Given the description of an element on the screen output the (x, y) to click on. 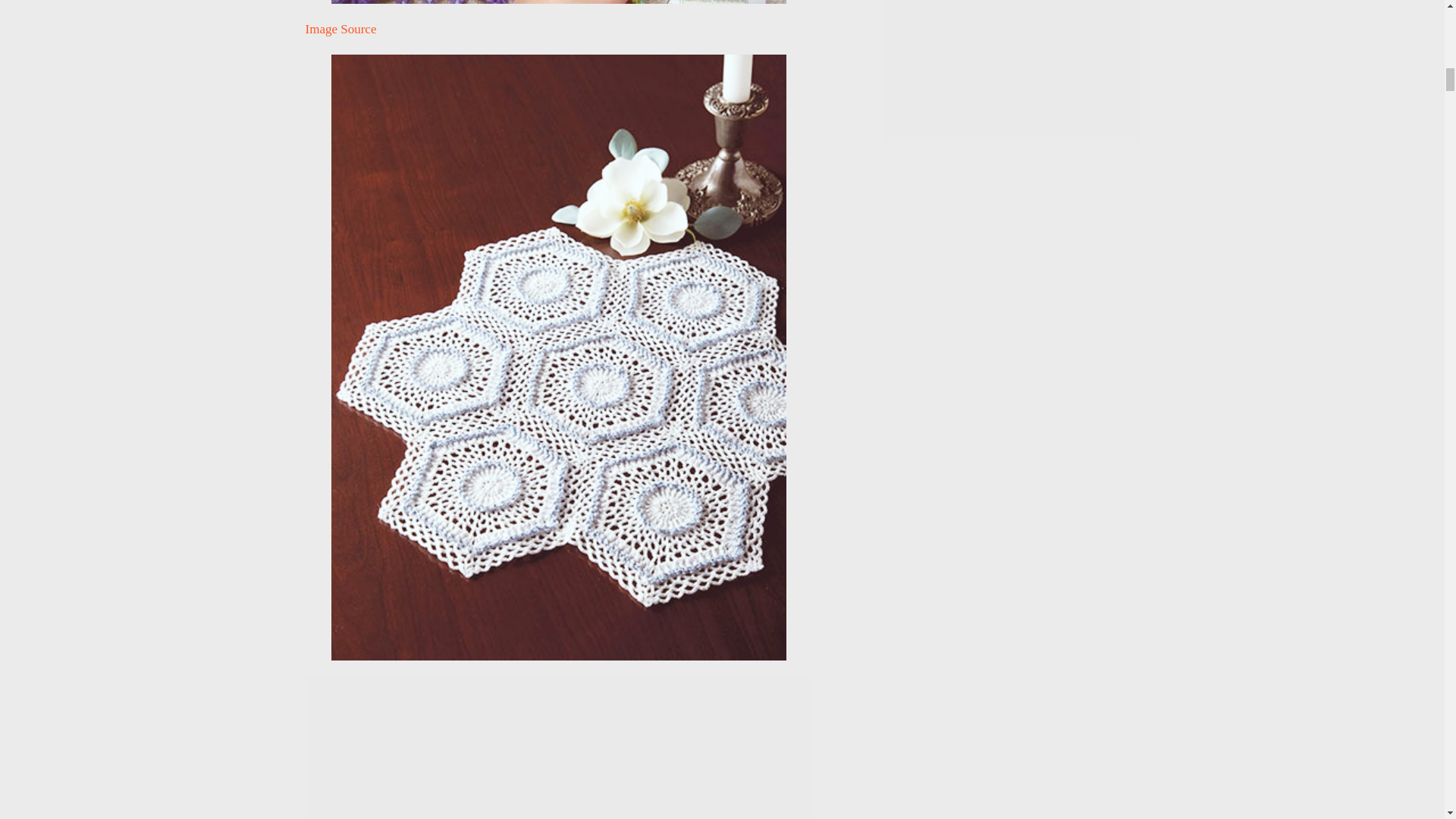
Image Source (339, 29)
